Given the description of an element on the screen output the (x, y) to click on. 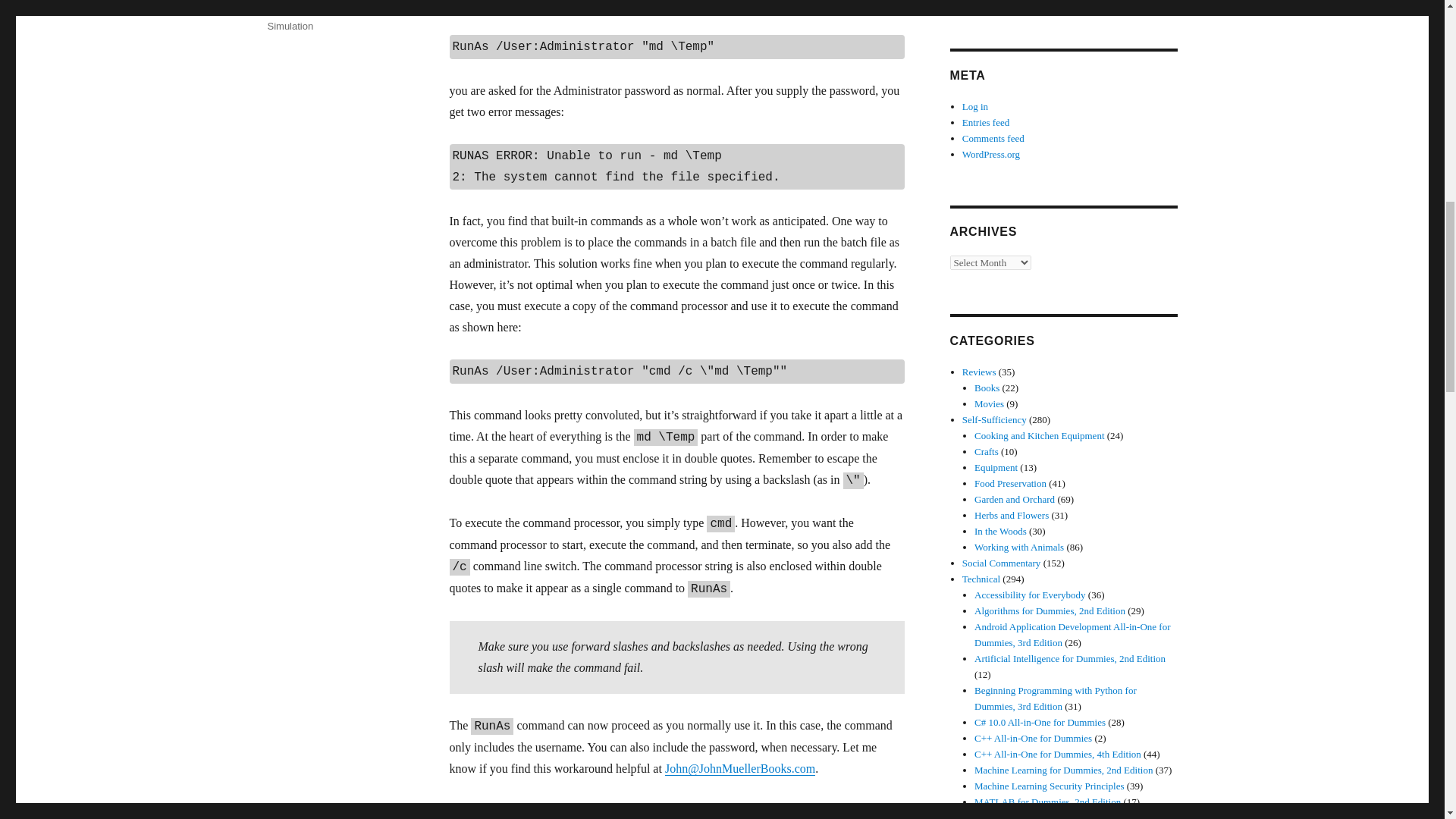
RunAs (344, 9)
Management (295, 9)
Simulation (289, 25)
